Given the description of an element on the screen output the (x, y) to click on. 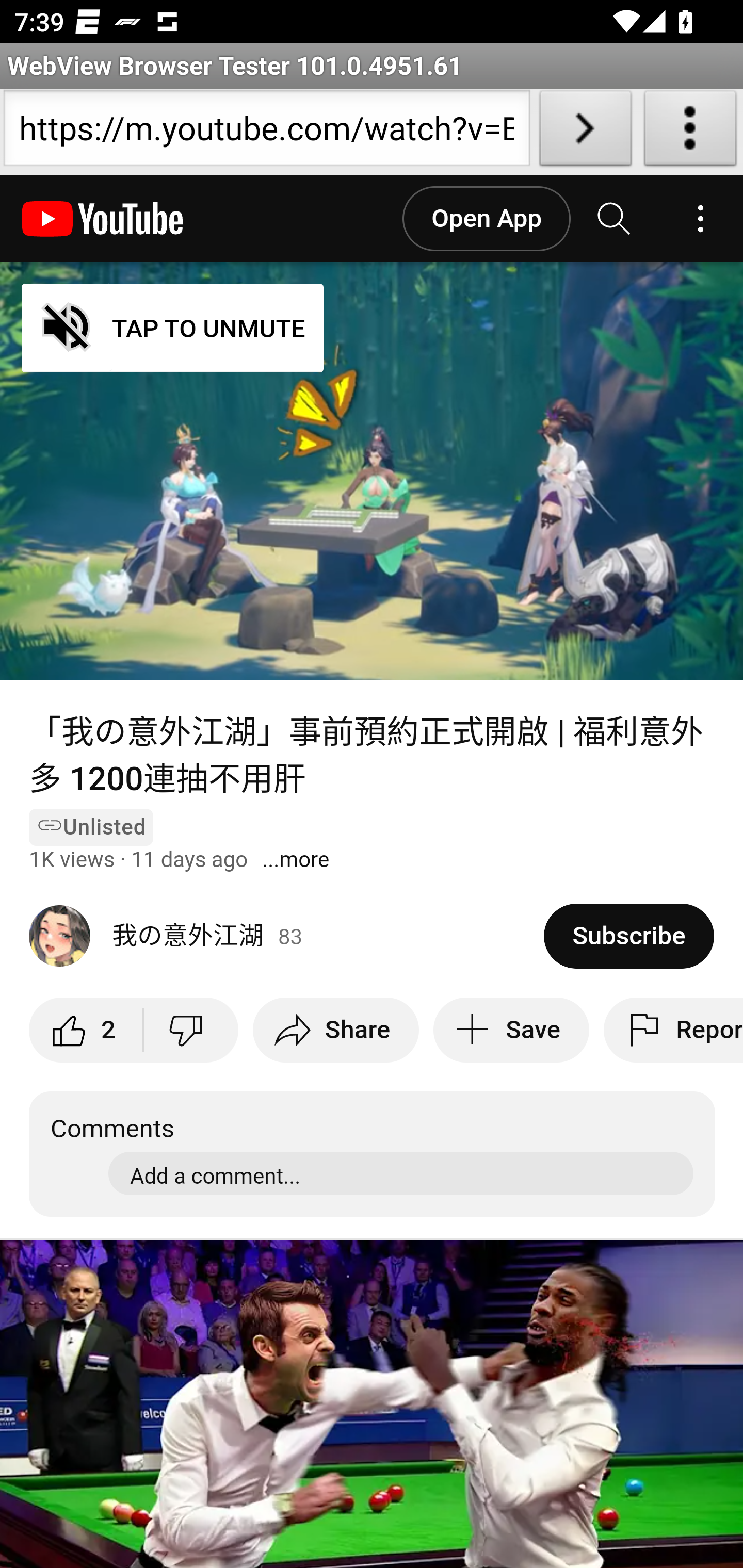
https://m.youtube.com/watch?v=BcbWemeBjj8 (266, 132)
Load URL (585, 132)
About WebView (690, 132)
YouTube (102, 219)
Search YouTube (614, 219)
Account (700, 219)
Open App (485, 218)
YouTube Video Player TAP TO UNMUTE (371, 470)
TAP TO UNMUTE (173, 328)
Unlisted (91, 826)
Show more (295, 859)
Subscribe to 我の意外江湖. (627, 936)
我の意外江湖 (286, 935)
like this video along with 2 other people (86, 1030)
Dislike this video (190, 1030)
Share (335, 1030)
Save to playlist (511, 1030)
Report (673, 1030)
Comments (372, 1152)
